Given the description of an element on the screen output the (x, y) to click on. 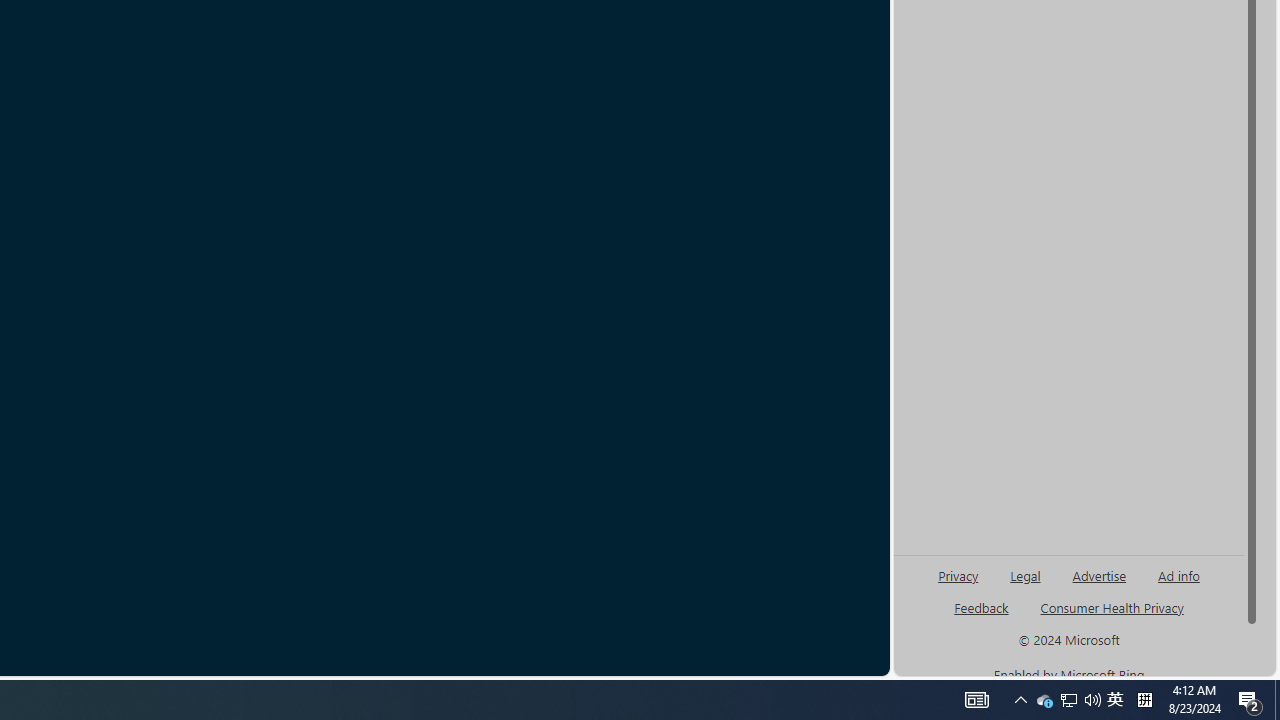
AutomationID: genId96 (981, 615)
AutomationID: sb_feedback (980, 607)
